Given the description of an element on the screen output the (x, y) to click on. 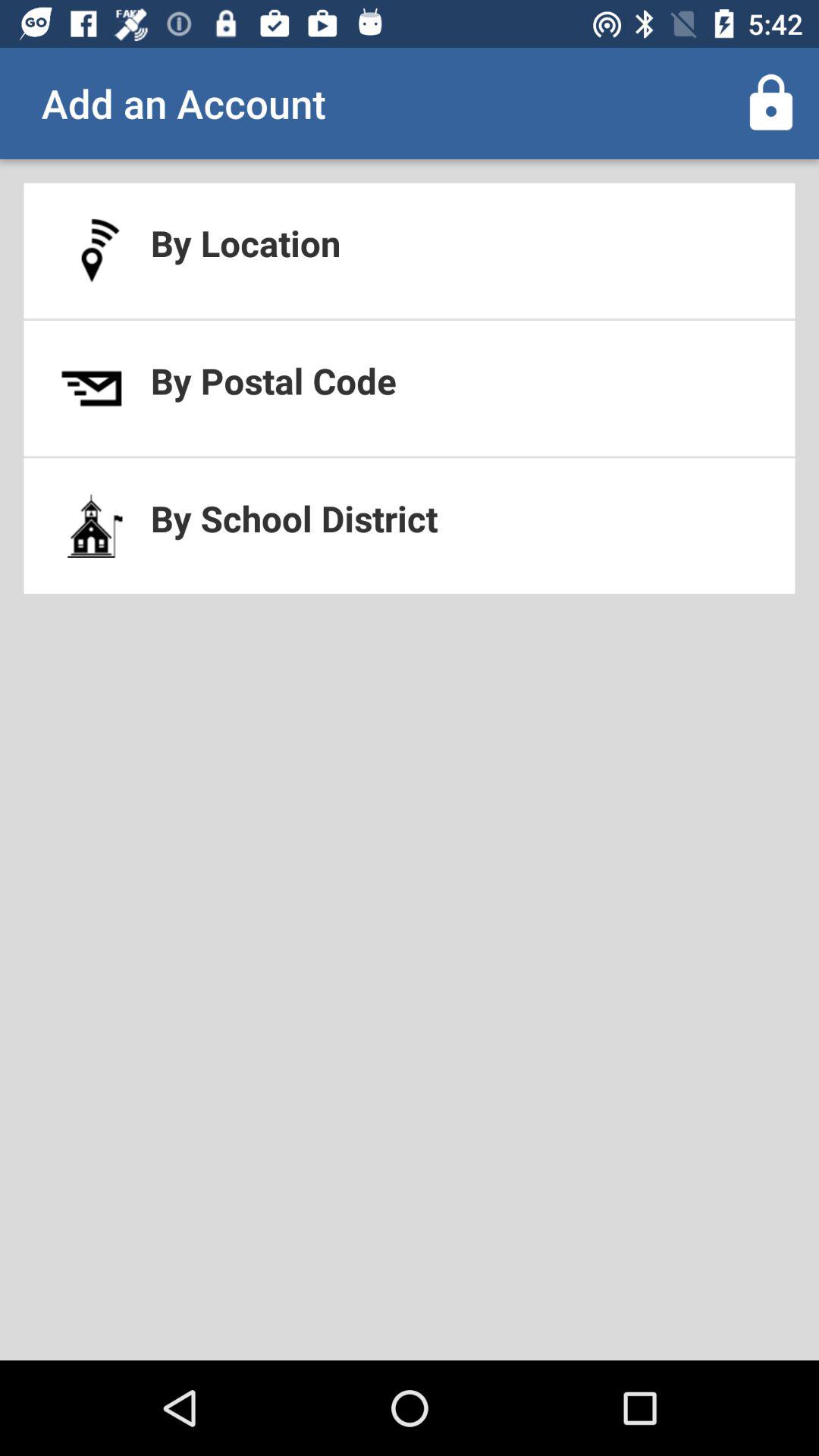
open by school district at the center (409, 525)
